Given the description of an element on the screen output the (x, y) to click on. 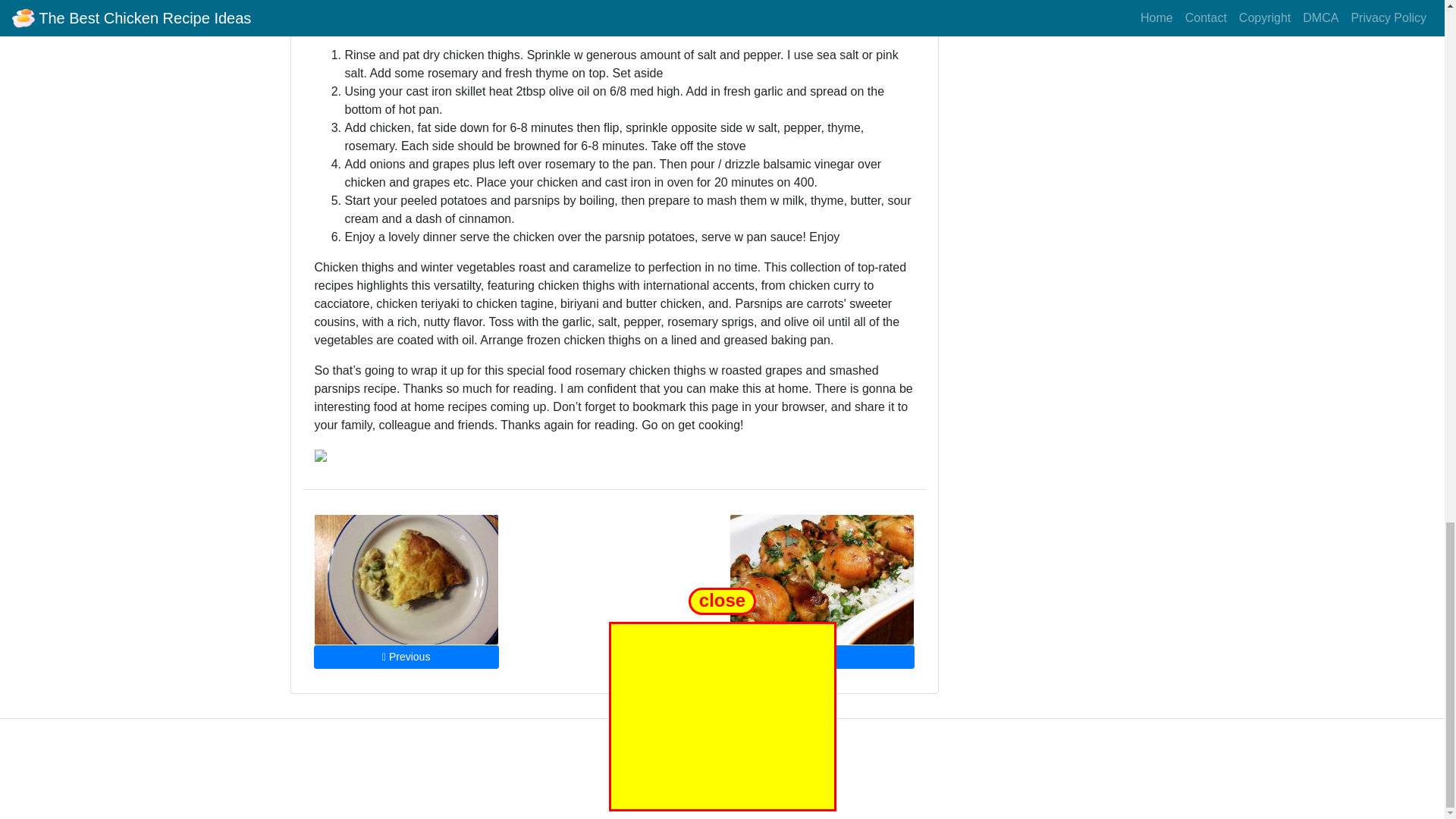
The Best Chicken Recipe Ideas (744, 761)
